Given the description of an element on the screen output the (x, y) to click on. 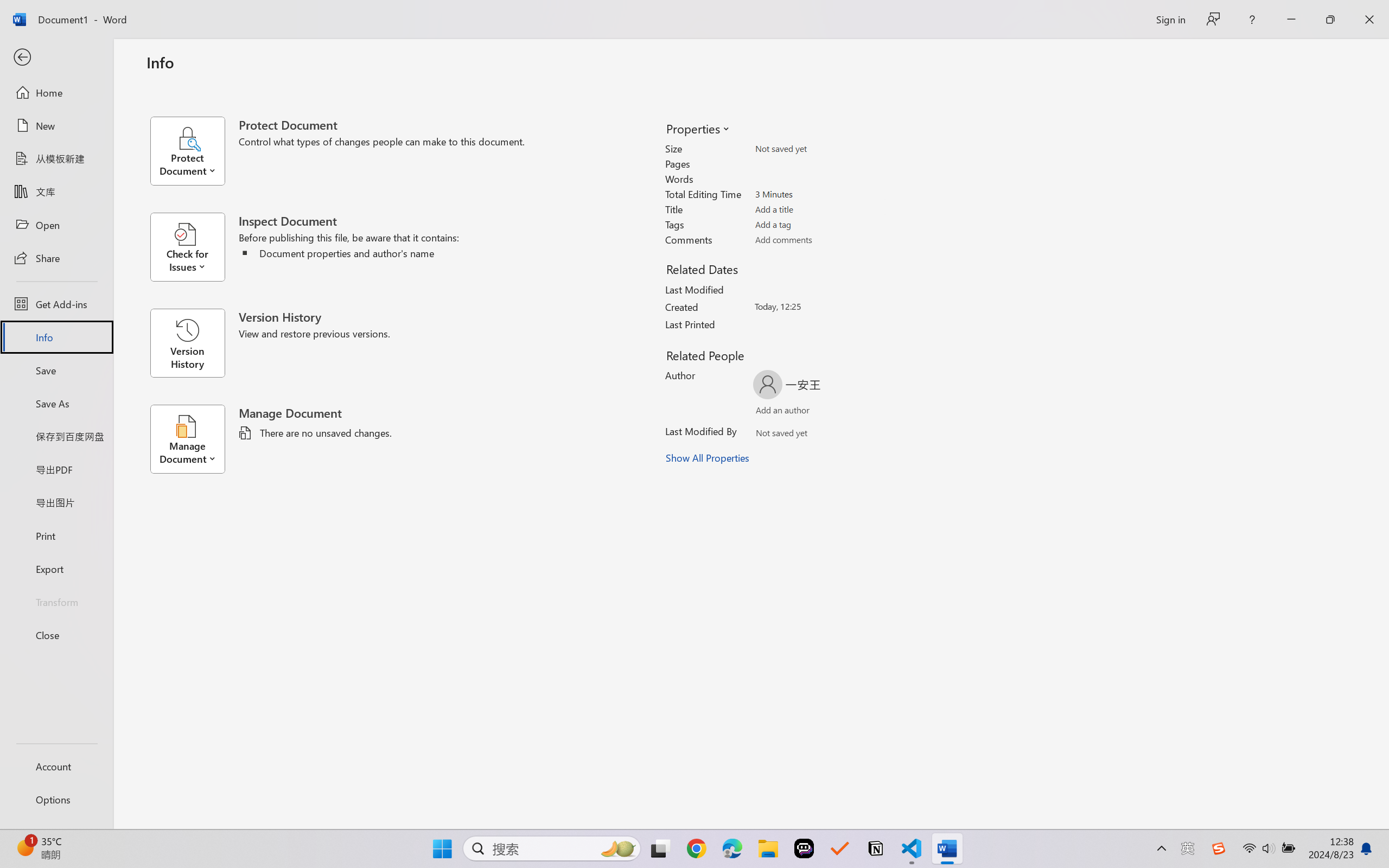
Protect Document (194, 150)
Properties (696, 128)
Verify Names (802, 434)
Pages (818, 163)
Transform (56, 601)
Get Add-ins (56, 303)
Info (56, 337)
Options (56, 798)
Browse Address Book (852, 435)
